Given the description of an element on the screen output the (x, y) to click on. 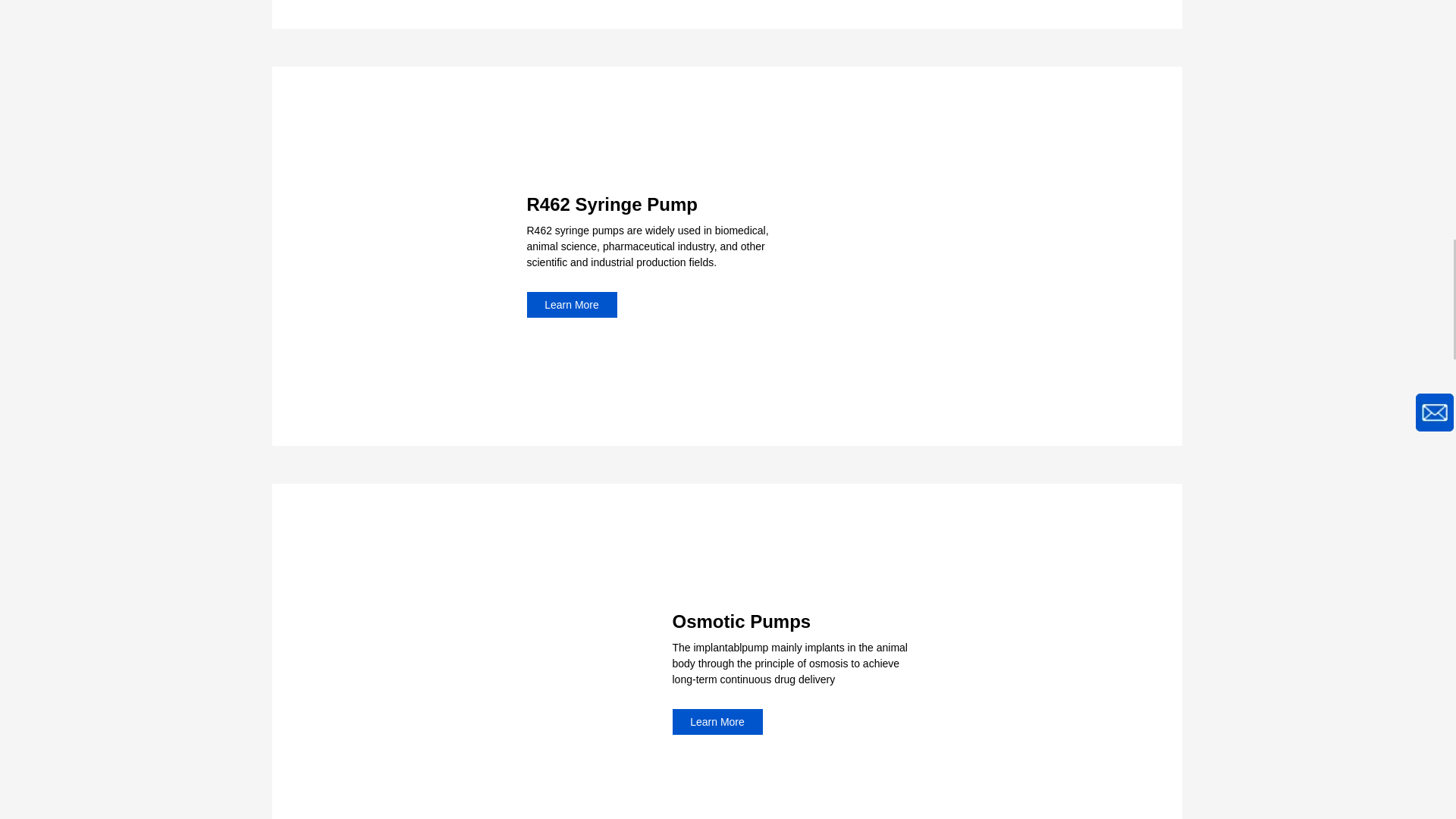
Learn More (570, 304)
Learn More (716, 721)
